Given the description of an element on the screen output the (x, y) to click on. 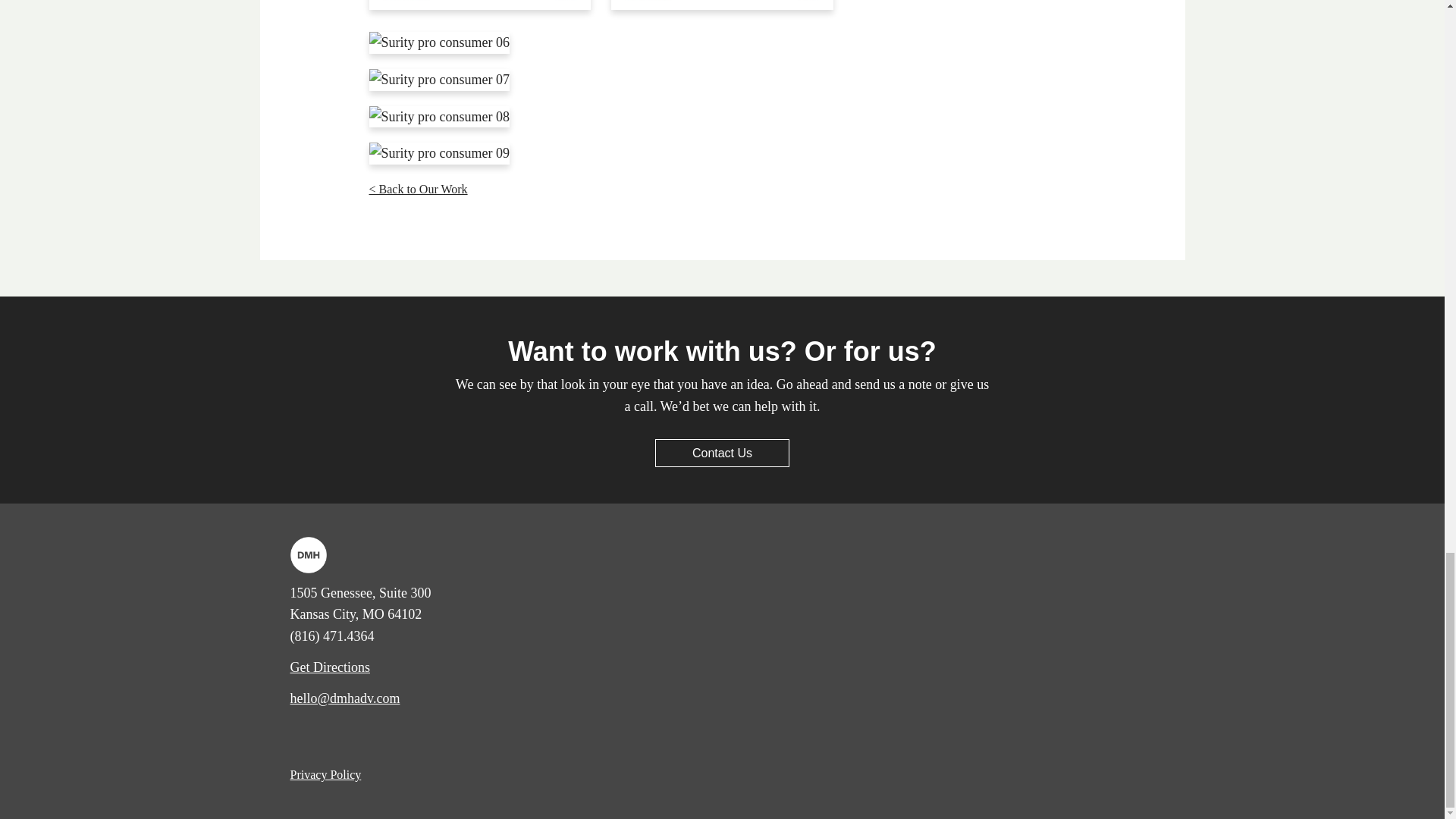
Contact Us (722, 452)
Privacy Policy (325, 774)
LinkedIn (298, 733)
Get Directions (329, 667)
Instagram (359, 733)
Facebook (328, 733)
